Given the description of an element on the screen output the (x, y) to click on. 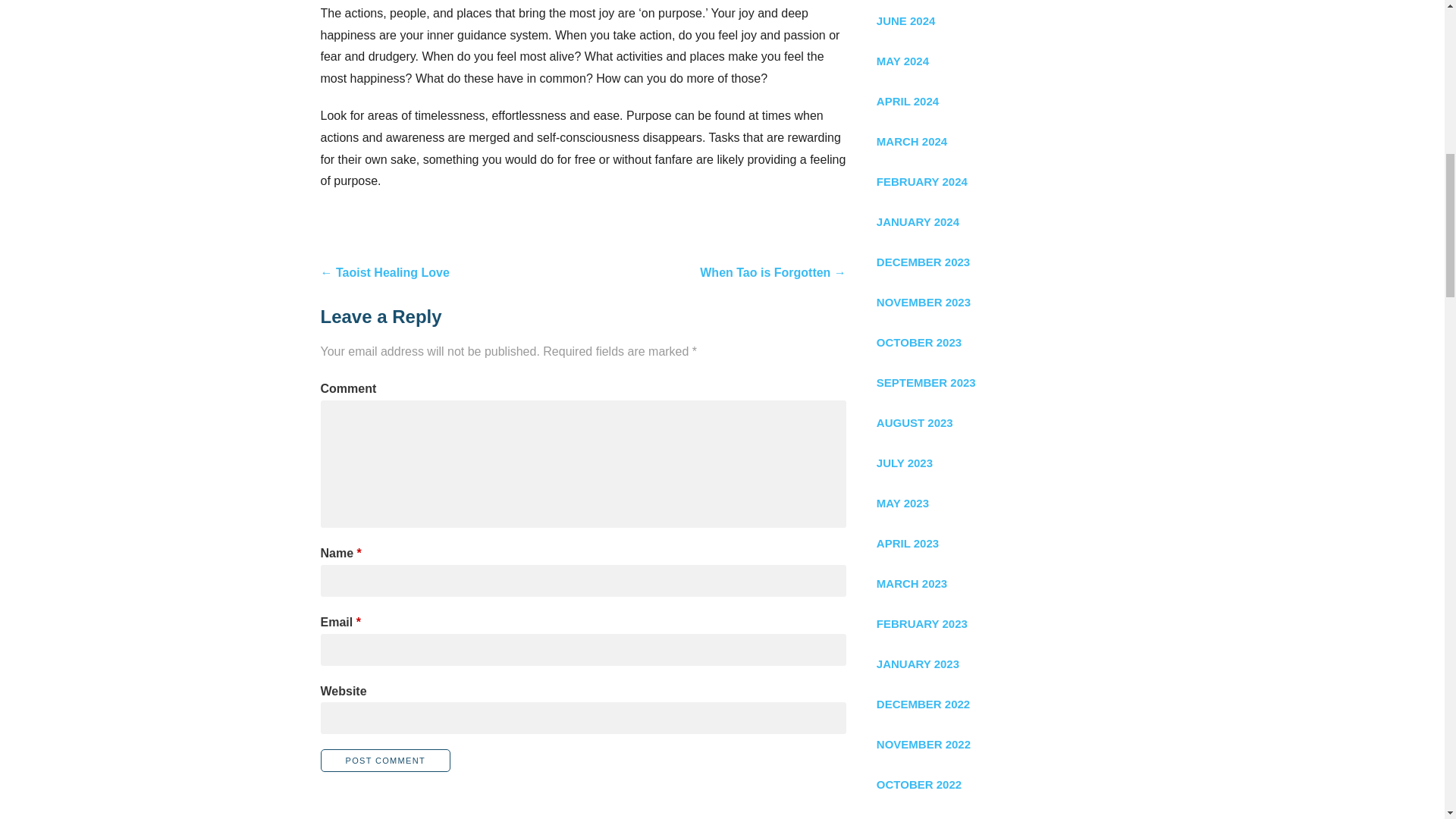
AUGUST 2023 (1000, 422)
JUNE 2024 (1000, 20)
FEBRUARY 2024 (1000, 181)
MARCH 2023 (1000, 583)
SEPTEMBER 2023 (1000, 382)
MARCH 2024 (1000, 141)
APRIL 2023 (1000, 543)
MAY 2024 (1000, 60)
Post Comment (384, 760)
DECEMBER 2023 (1000, 261)
